Given the description of an element on the screen output the (x, y) to click on. 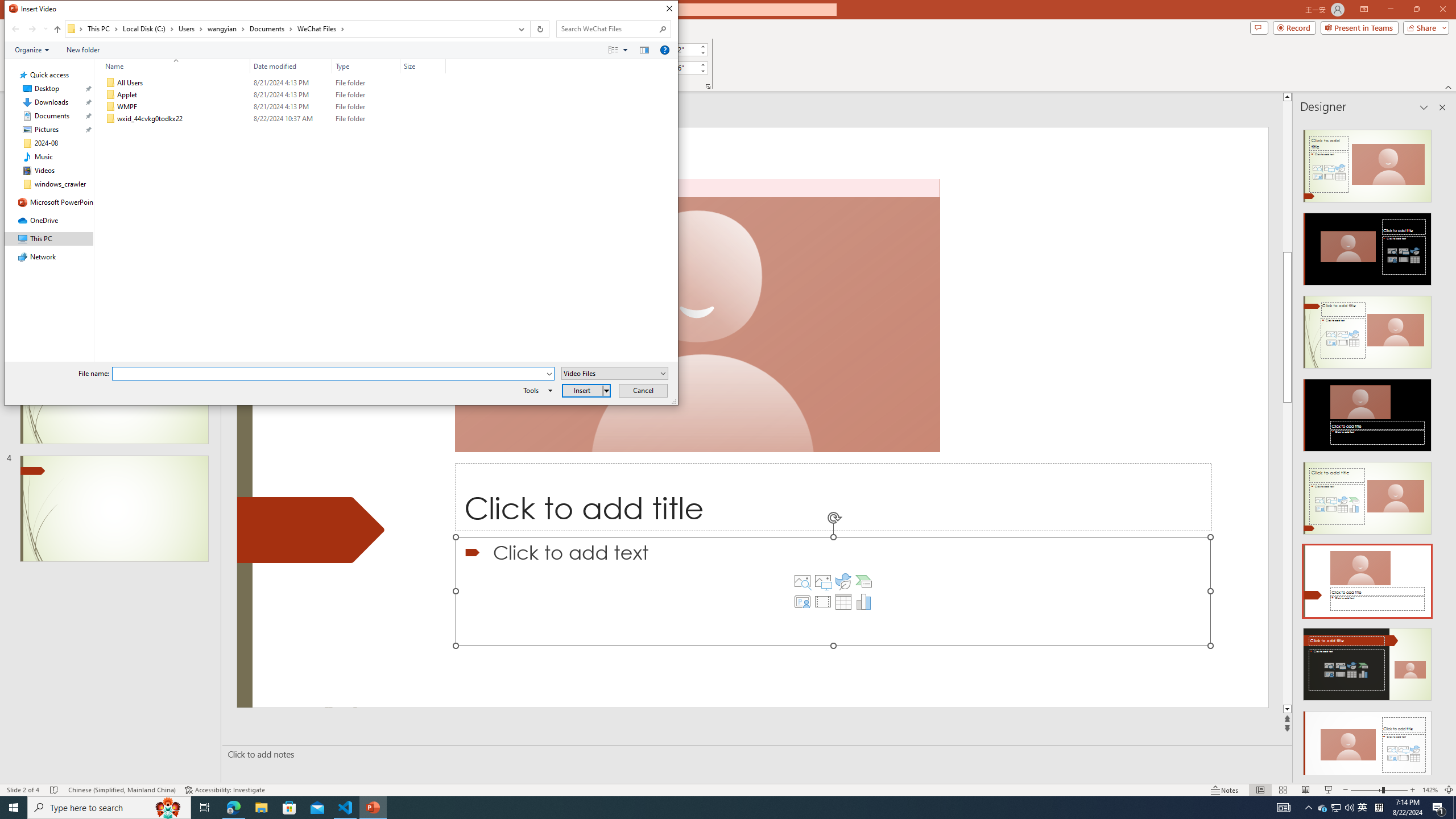
Class: NetUIScrollBar (1441, 447)
Name (173, 65)
Type (365, 119)
Pictures (822, 581)
WMPF (273, 106)
Type (365, 65)
Line down (1450, 709)
AutomationID: 4105 (1283, 807)
Previous Locations (1335, 807)
